Given the description of an element on the screen output the (x, y) to click on. 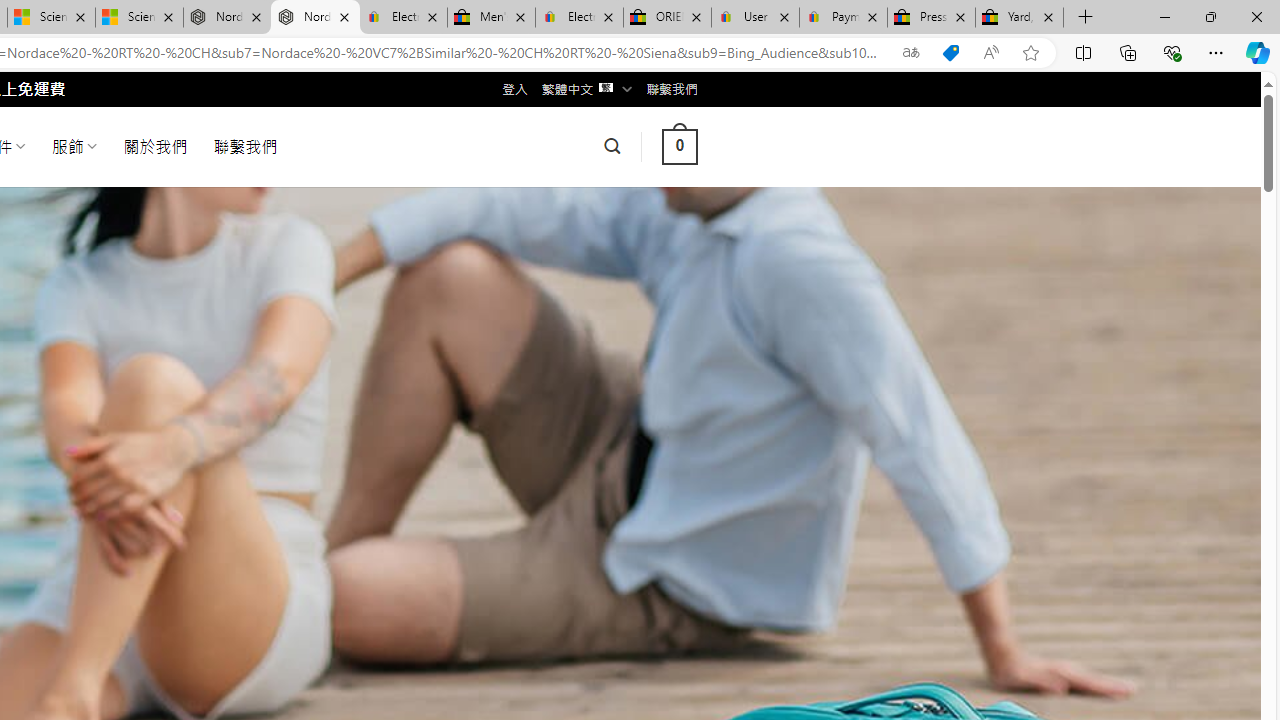
Electronics, Cars, Fashion, Collectibles & More | eBay (579, 17)
  0   (679, 146)
Payments Terms of Use | eBay.com (843, 17)
Nordace - Summer Adventures 2024 (315, 17)
 0  (679, 146)
